Given the description of an element on the screen output the (x, y) to click on. 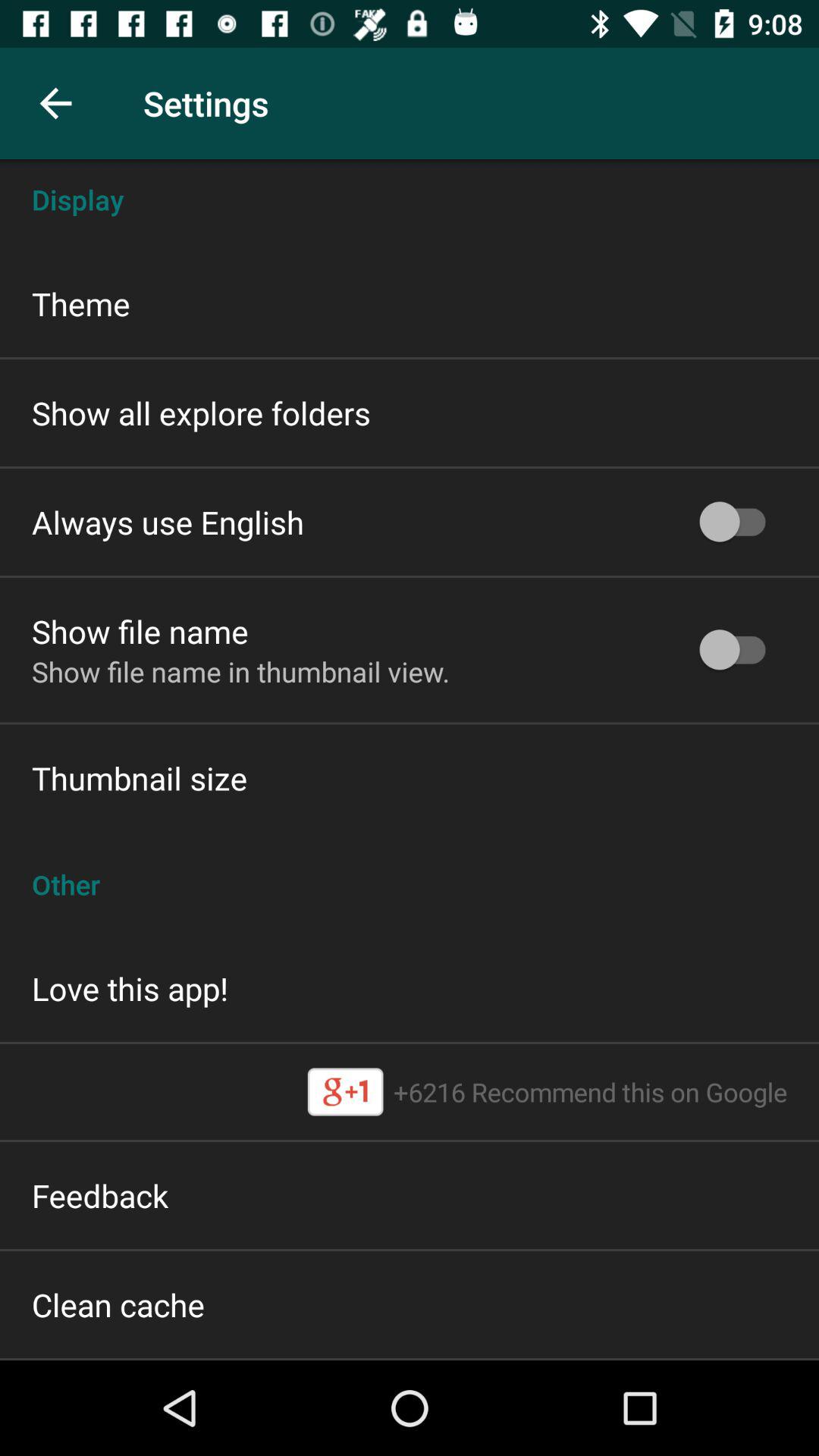
click item above display item (55, 103)
